Given the description of an element on the screen output the (x, y) to click on. 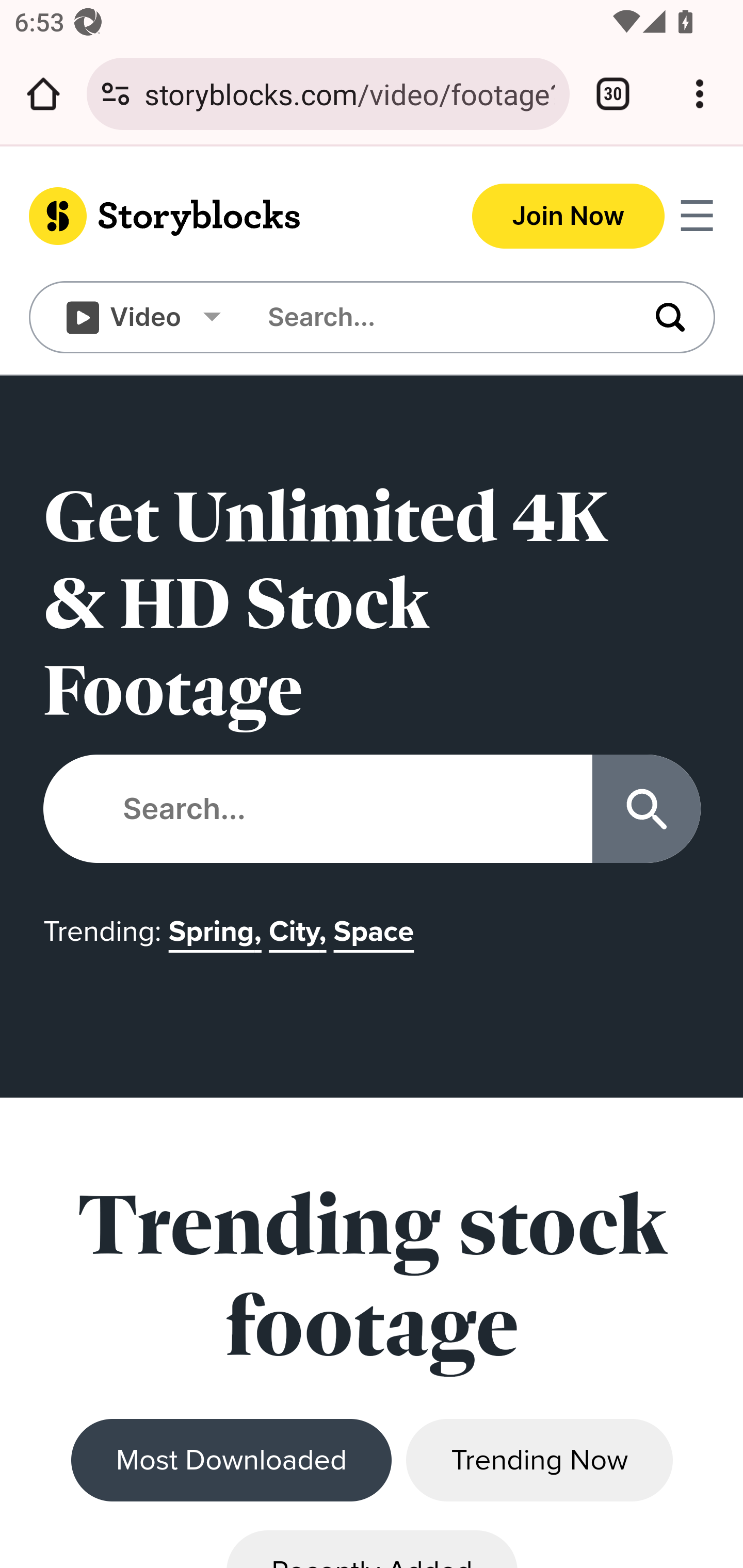
Open the home page (43, 93)
Connection is secure (115, 93)
Switch or close tabs (612, 93)
Customize and control Google Chrome (699, 93)
Join Now (568, 215)
Storyblocks Storyblocks Logo link to Home page (200, 215)
☰ (696, 215)
Submit Search (652, 316)
Submit Search (647, 808)
Spring, Spring , (217, 942)
City, City , (300, 942)
Space (377, 942)
Most Downloaded (231, 1460)
Trending Now (538, 1460)
